Given the description of an element on the screen output the (x, y) to click on. 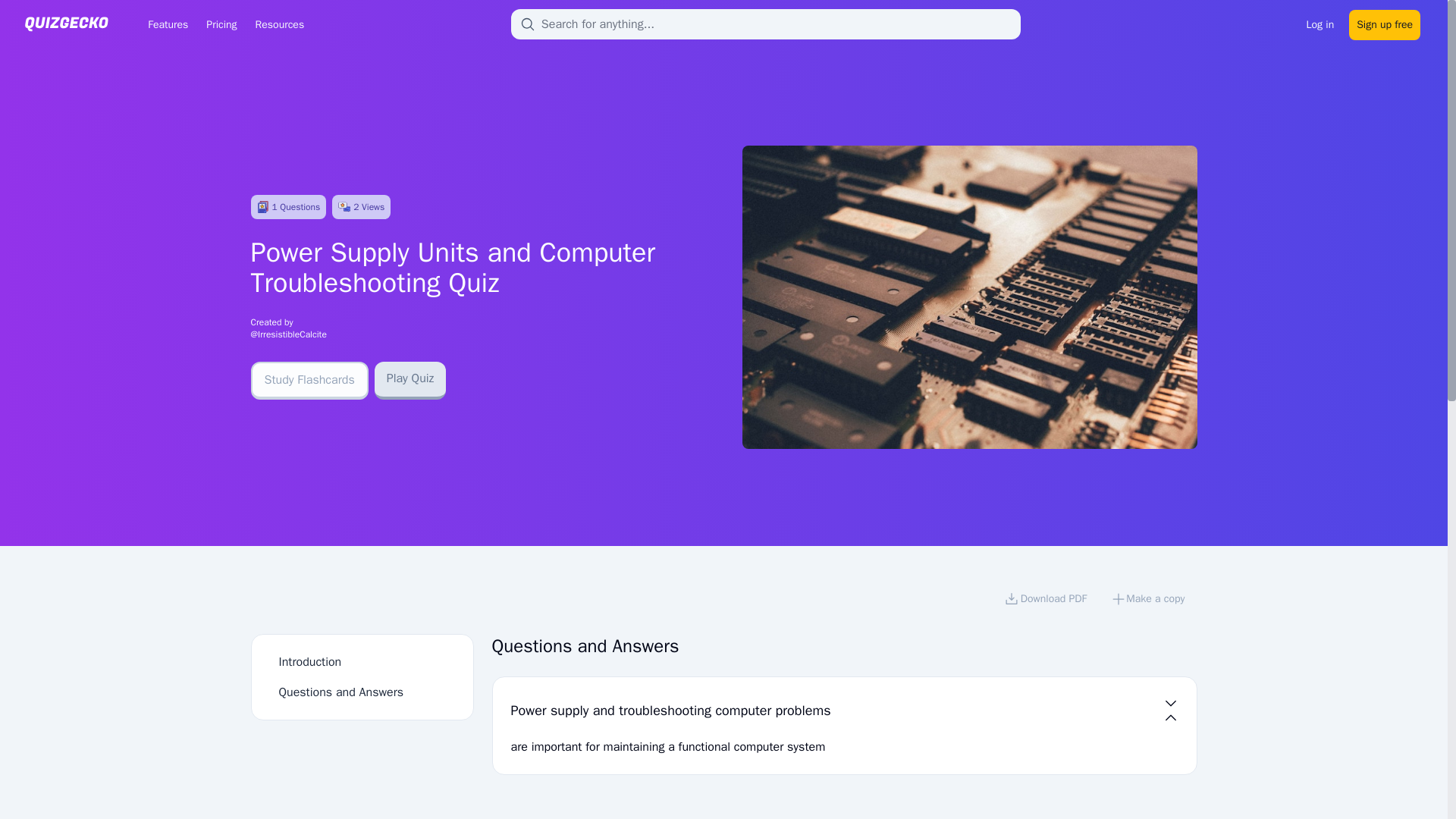
Introduction (310, 661)
Resources (279, 23)
Play Quiz (410, 380)
Questions and Answers (341, 692)
Study Flashcards (309, 380)
Features (167, 23)
Sign up free (1384, 23)
Download PDF (1045, 600)
Make a copy (1147, 600)
Log in (1320, 23)
